Given the description of an element on the screen output the (x, y) to click on. 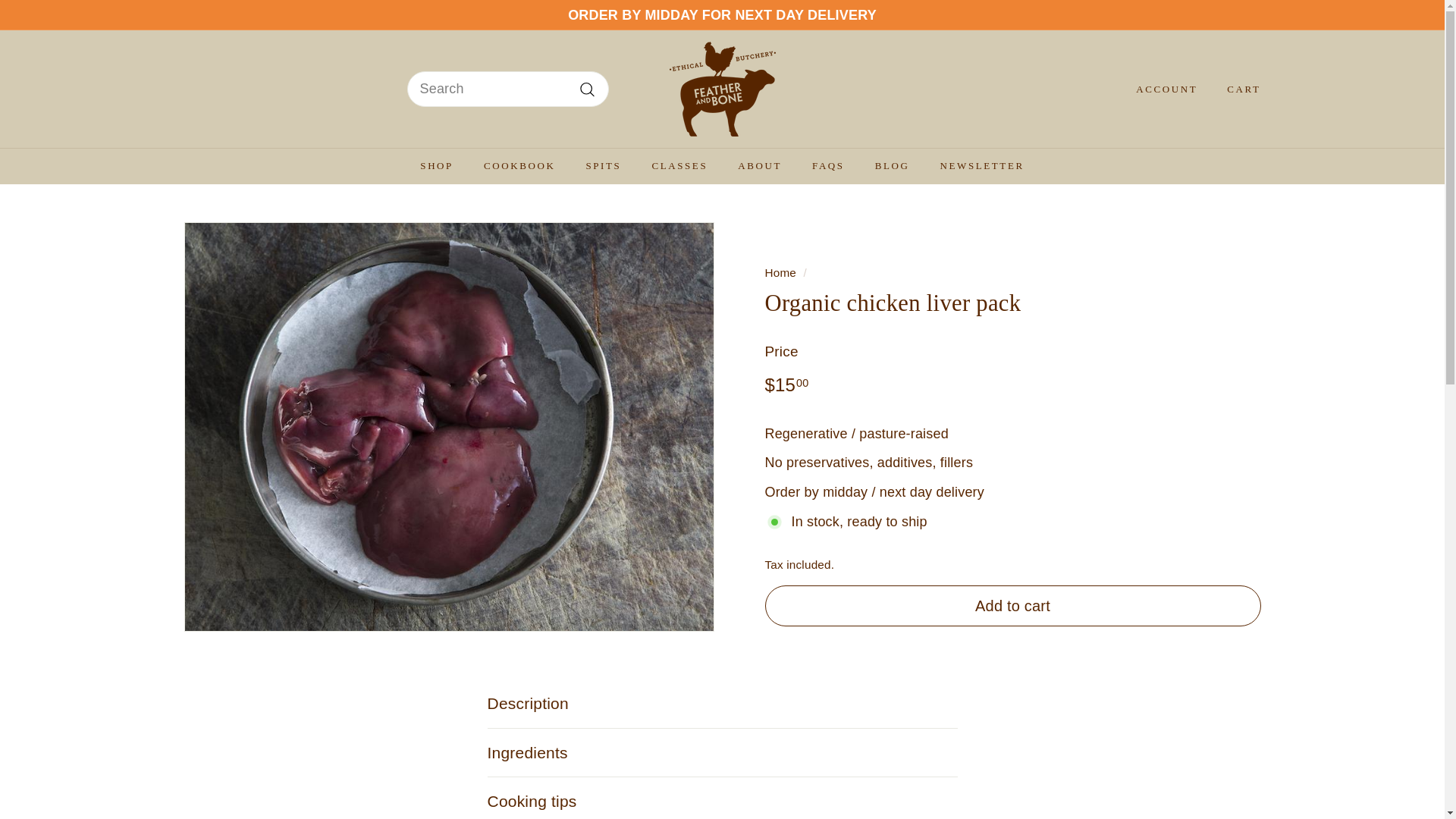
COOKBOOK (519, 166)
CART (1238, 89)
Back to the frontpage (780, 272)
ACCOUNT (1161, 89)
